Given the description of an element on the screen output the (x, y) to click on. 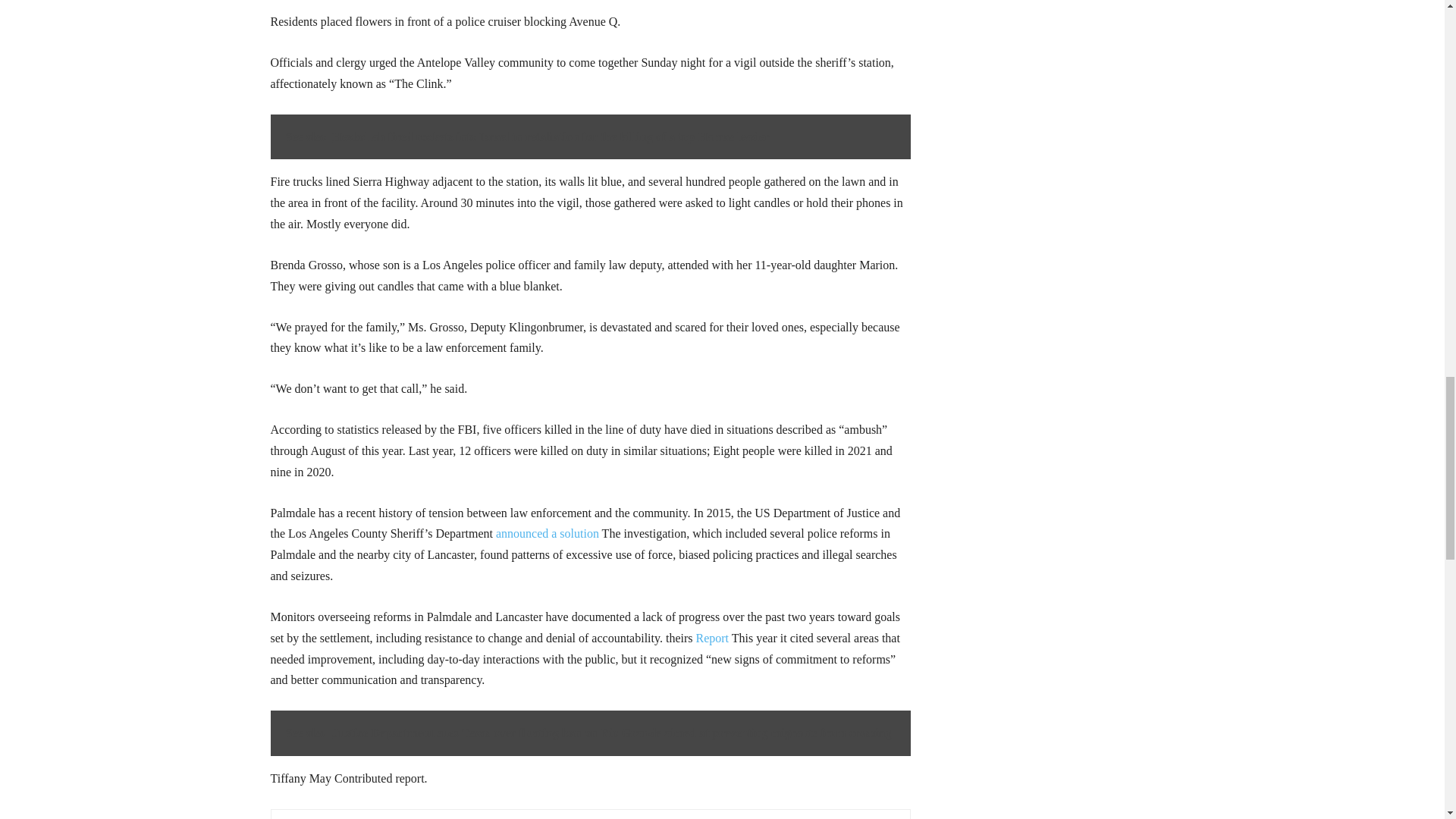
announced a solution (547, 533)
Report (712, 637)
